Given the description of an element on the screen output the (x, y) to click on. 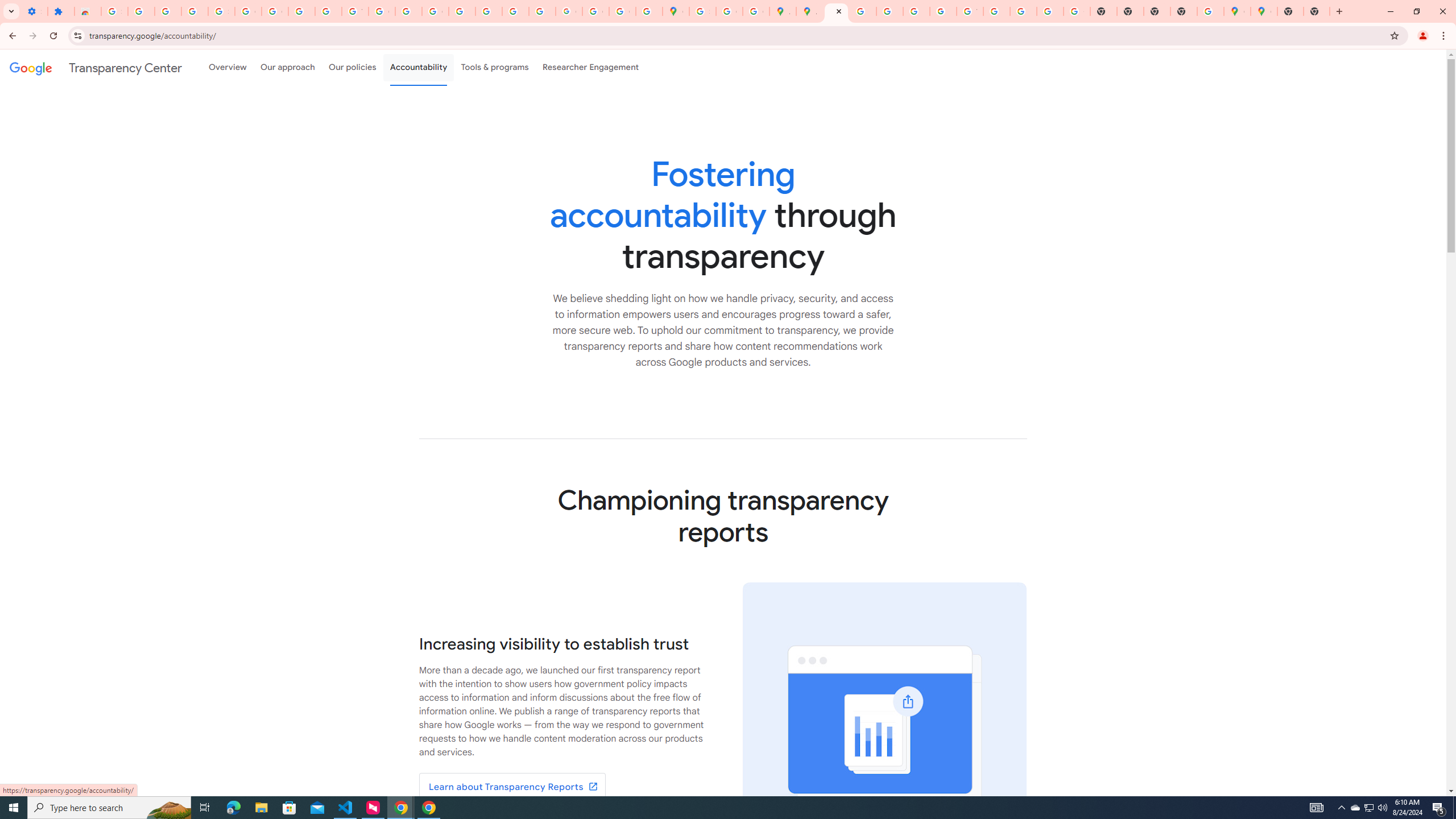
Transparency Center (95, 67)
New Tab (1183, 11)
YouTube (970, 11)
